Given the description of an element on the screen output the (x, y) to click on. 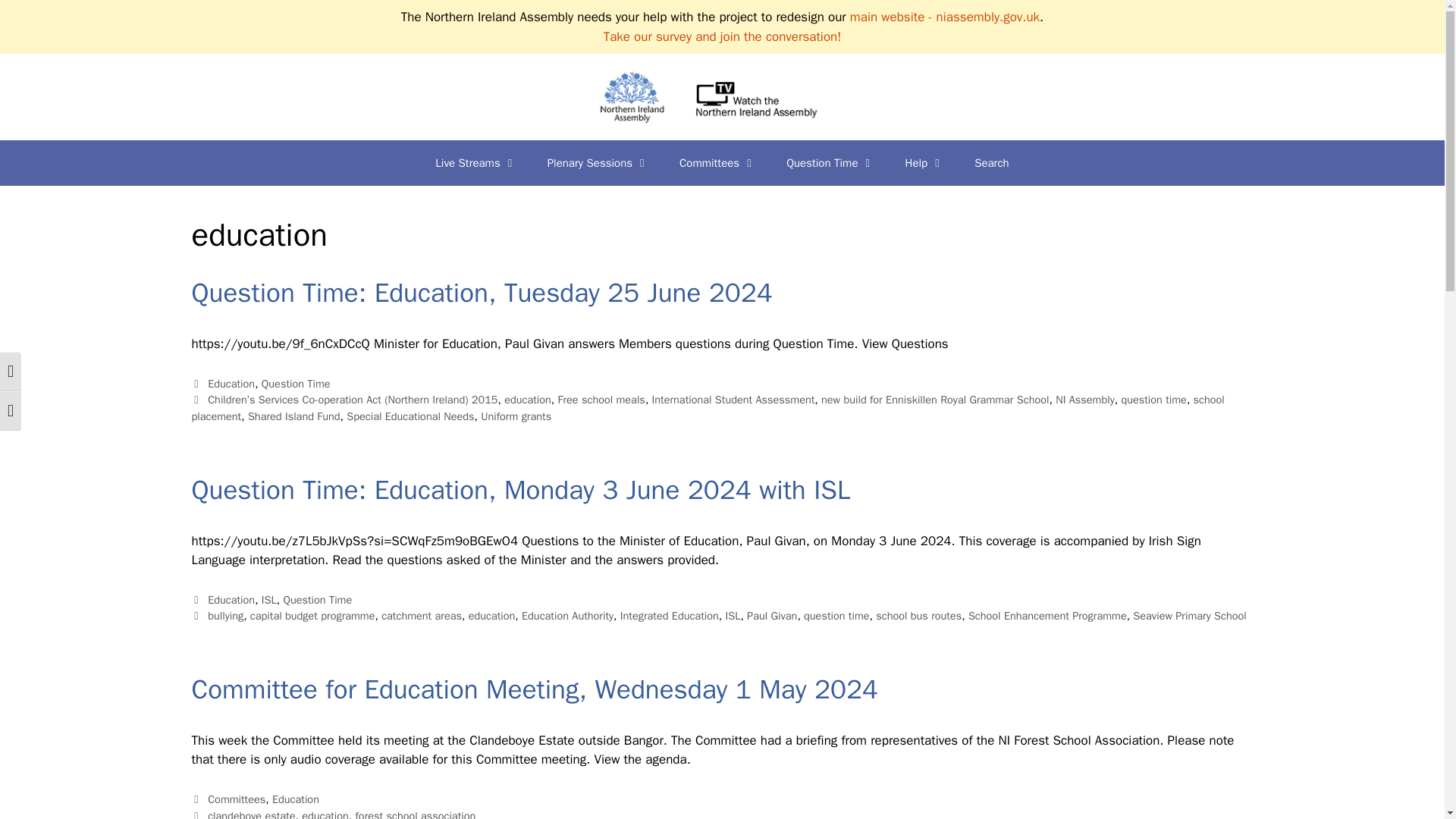
Toggle Font size (10, 410)
main website - niassembly.gov.uk (944, 17)
Toggle High Contrast (10, 371)
Take our survey and join the conversation! (722, 36)
